Given the description of an element on the screen output the (x, y) to click on. 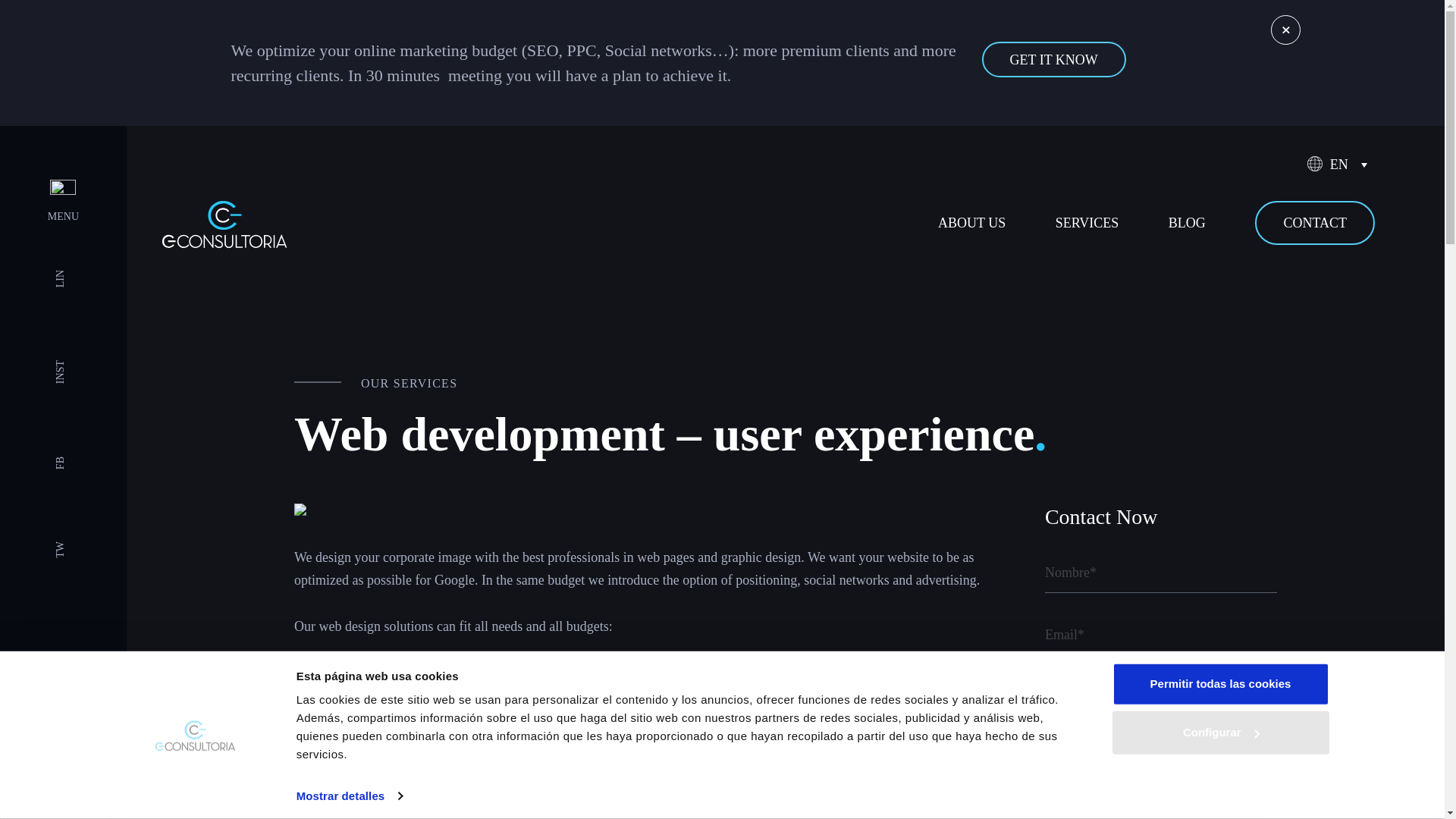
Mostrar detalles (350, 795)
